Given the description of an element on the screen output the (x, y) to click on. 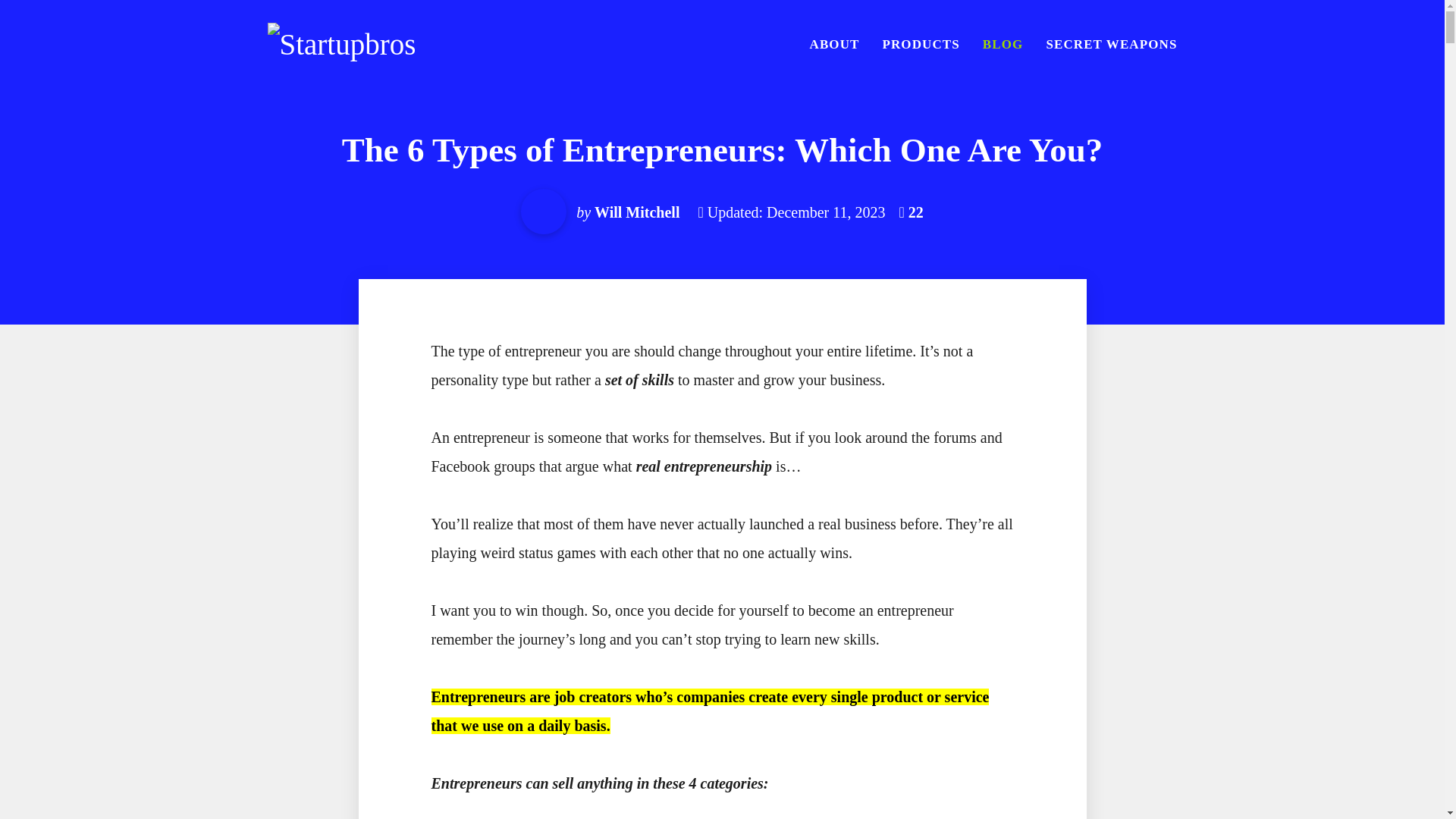
BLOG (1003, 44)
22 (911, 211)
PRODUCTS (920, 44)
ABOUT (833, 44)
SECRET WEAPONS (1104, 44)
